Given the description of an element on the screen output the (x, y) to click on. 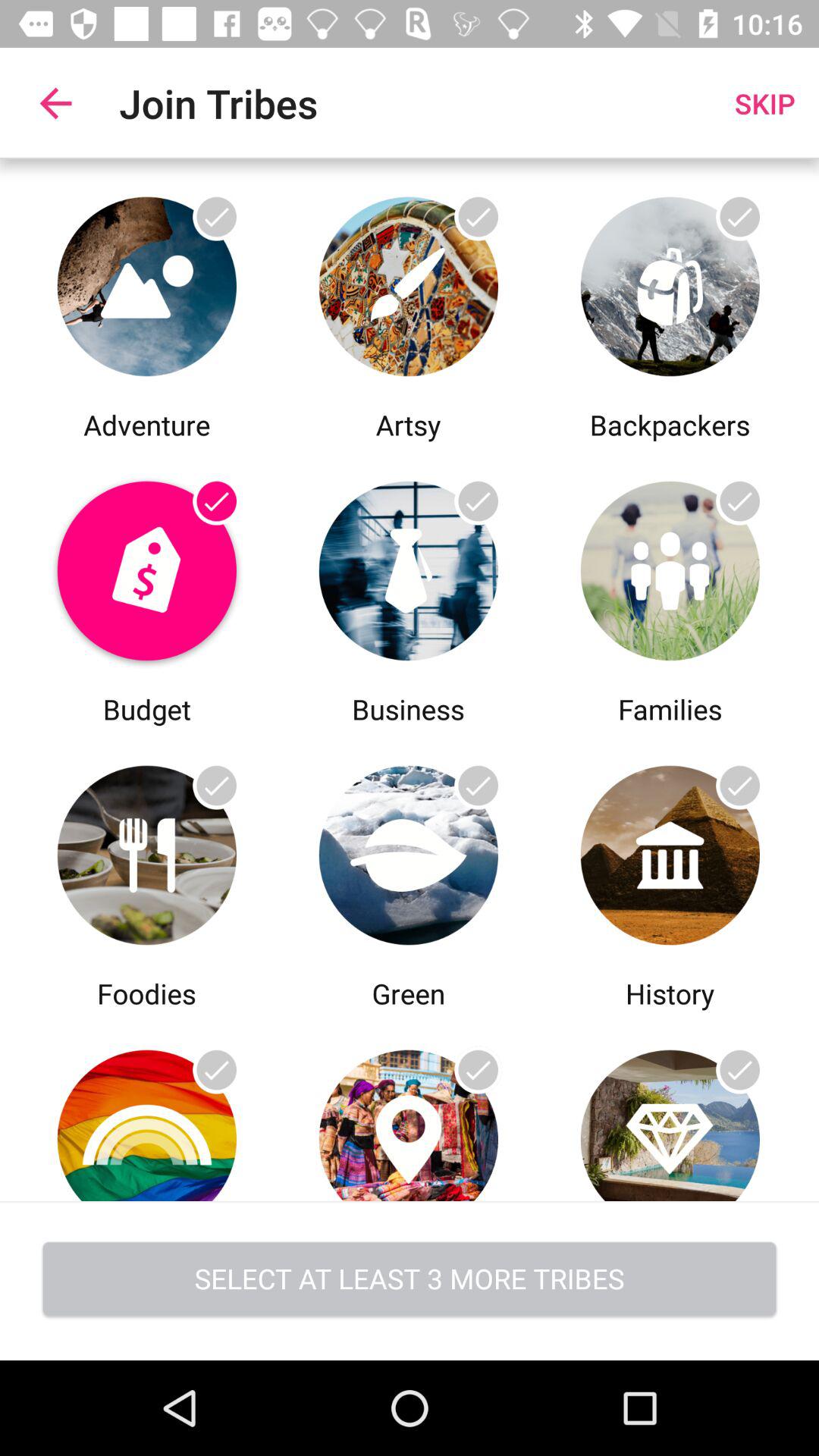
flip until select at least icon (409, 1280)
